Given the description of an element on the screen output the (x, y) to click on. 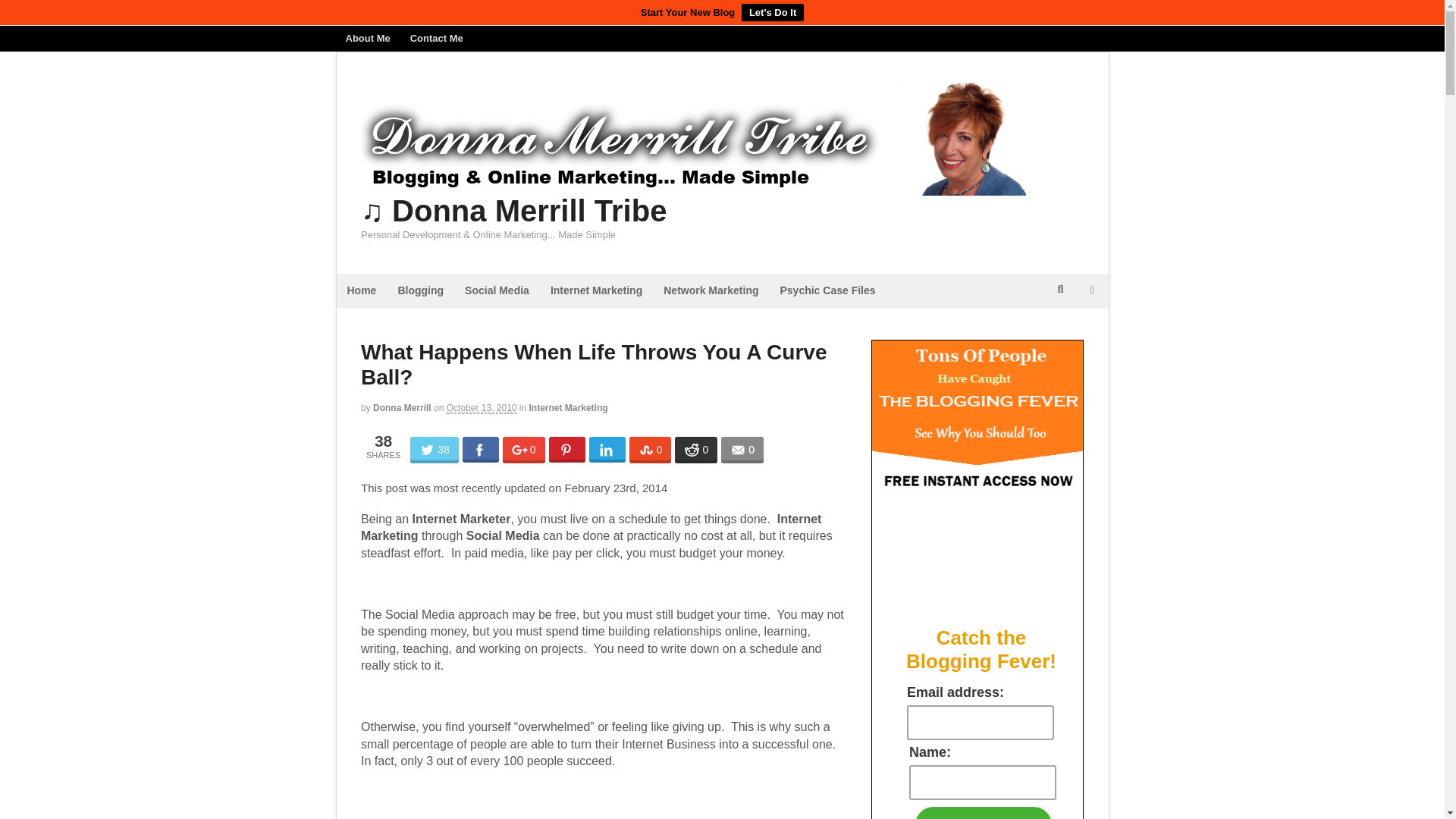
0 (649, 449)
View all items in Internet Marketing (568, 407)
Internet Marketing (568, 407)
Posts by Donna Merrill (401, 407)
2010-10-13T13:41:38-0400 (481, 408)
0 (696, 449)
0 (523, 449)
Network Marketing (710, 290)
About Me (366, 38)
Let's Do It (772, 12)
Search (1061, 327)
0 (741, 449)
Blogging (420, 290)
Contact Me (436, 38)
38 (434, 449)
